Given the description of an element on the screen output the (x, y) to click on. 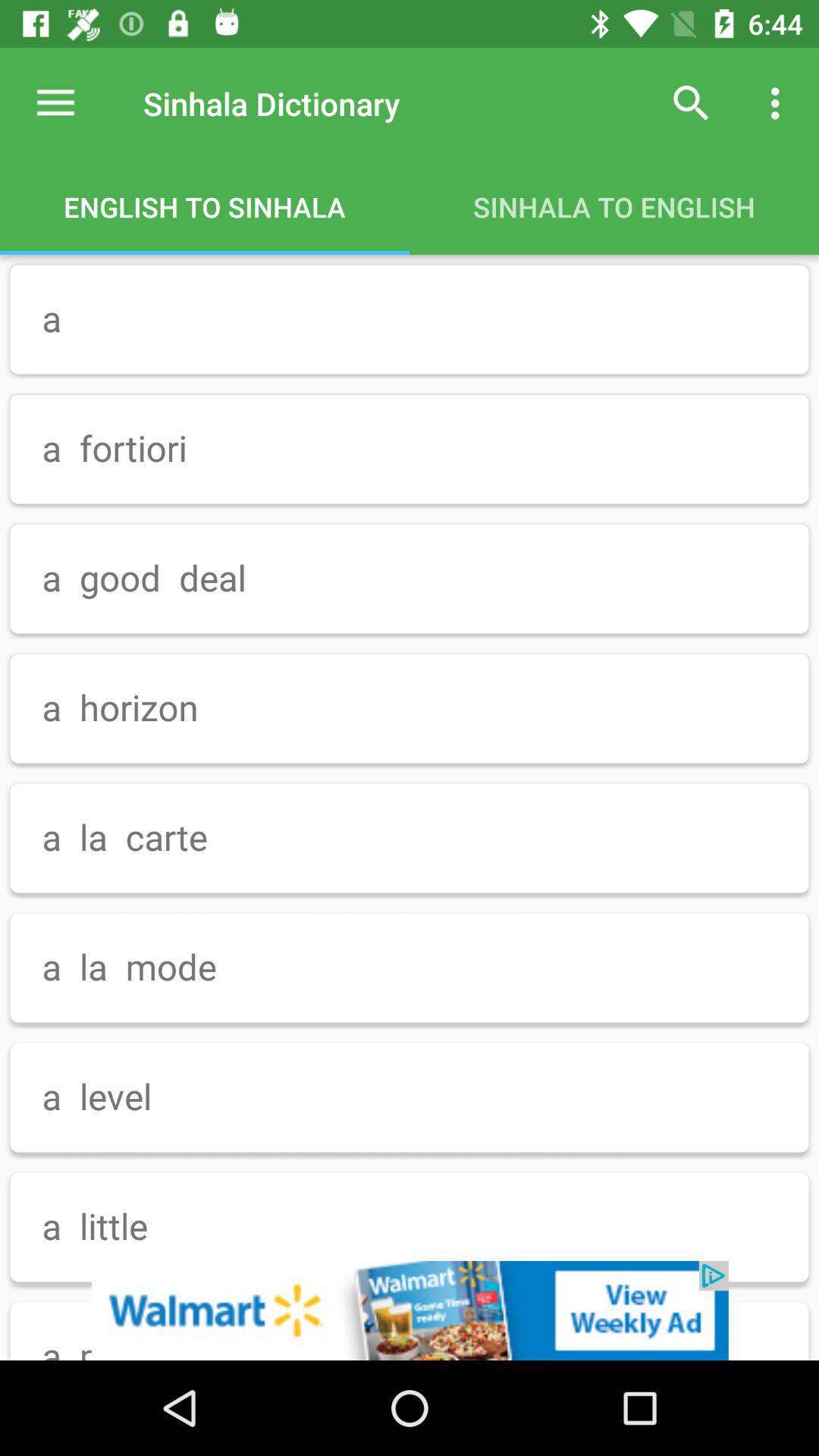
open advertisement (409, 1310)
